Given the description of an element on the screen output the (x, y) to click on. 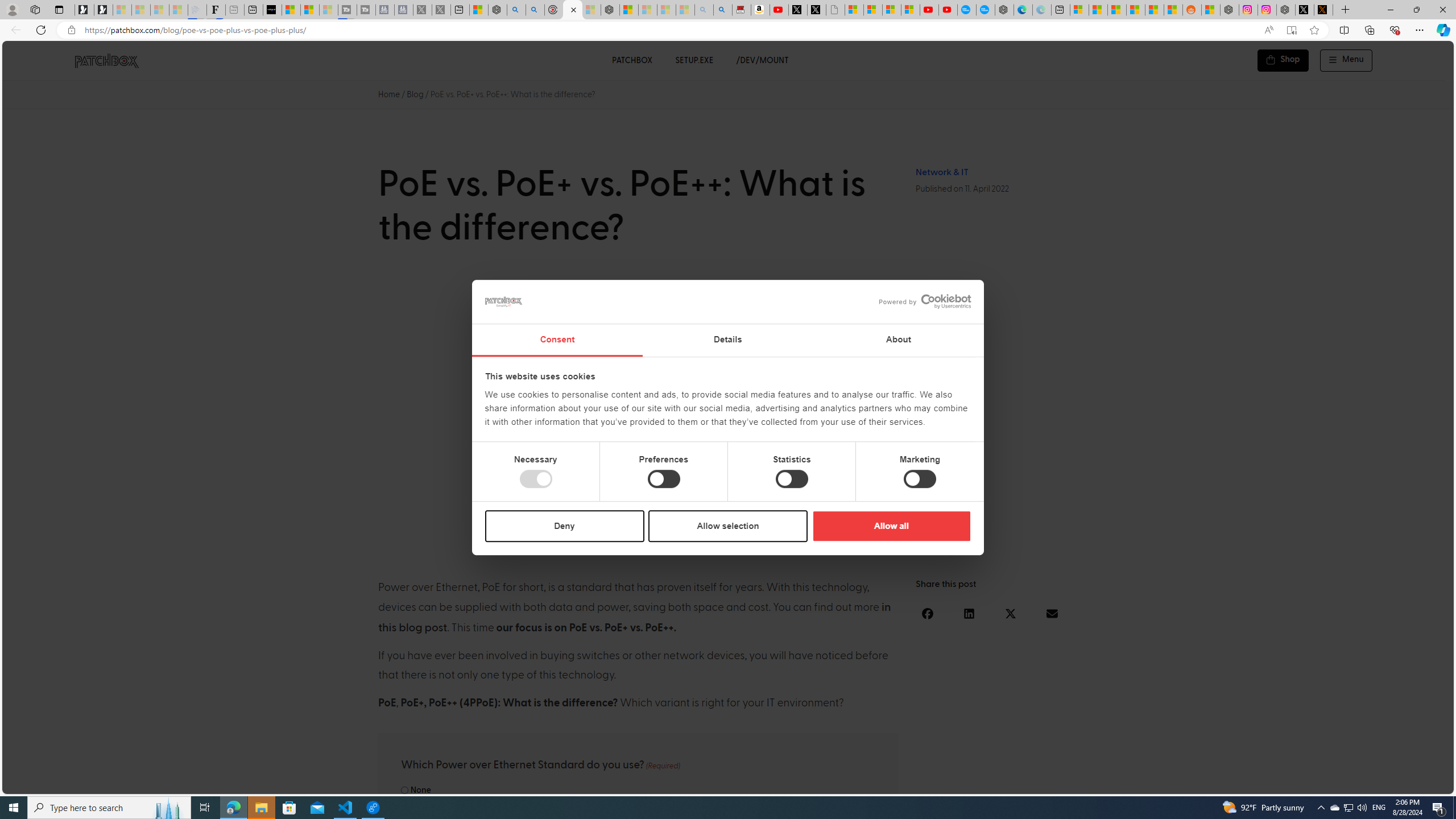
Shop (1282, 60)
Language switcher : Dutch (1276, 782)
Nordace - Nordace Siena Is Not An Ordinary Backpack (609, 9)
Language switcher : Czech (1413, 782)
Language switcher : Danish (1311, 782)
Language switcher : Croatian (1322, 782)
in this blog post (634, 617)
